Given the description of an element on the screen output the (x, y) to click on. 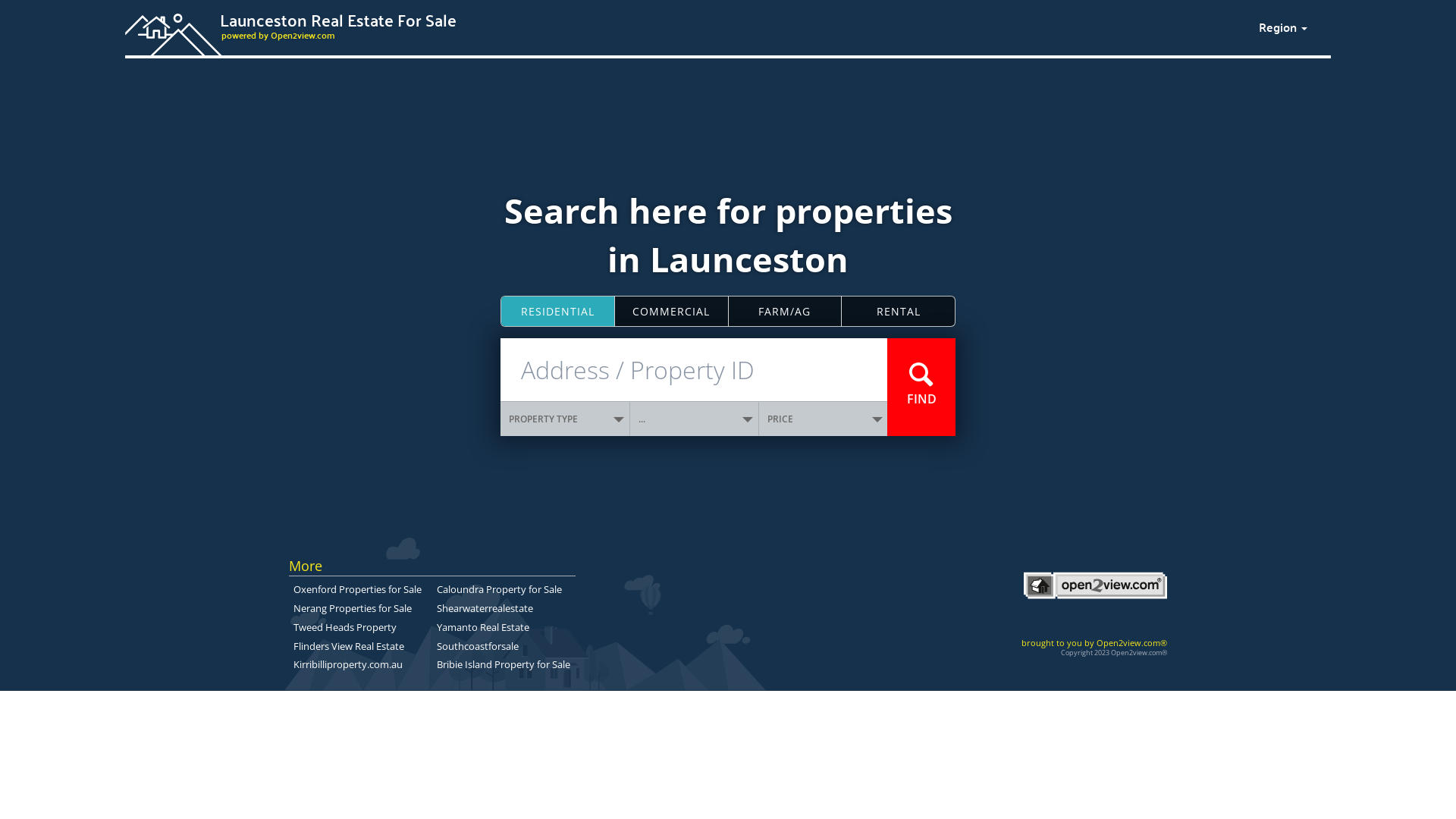
PRICE Element type: text (823, 418)
Shearwaterrealestate Element type: text (484, 608)
Nerang Properties for Sale Element type: text (352, 608)
Yamanto Real Estate Element type: text (482, 626)
Flinders View Real Estate Element type: text (348, 645)
Oxenford Properties for Sale Element type: text (357, 589)
Caloundra Property for Sale Element type: text (498, 589)
Tweed Heads Property Element type: text (344, 626)
Bribie Island Property for Sale Element type: text (503, 664)
... Element type: text (694, 418)
Kirribilliproperty.com.au Element type: text (347, 664)
Launceston Real Estate For Sale
powered by Open2view.com Element type: text (682, 25)
Southcoastforsale Element type: text (477, 645)
PROPERTY TYPE Element type: text (565, 418)
